Given the description of an element on the screen output the (x, y) to click on. 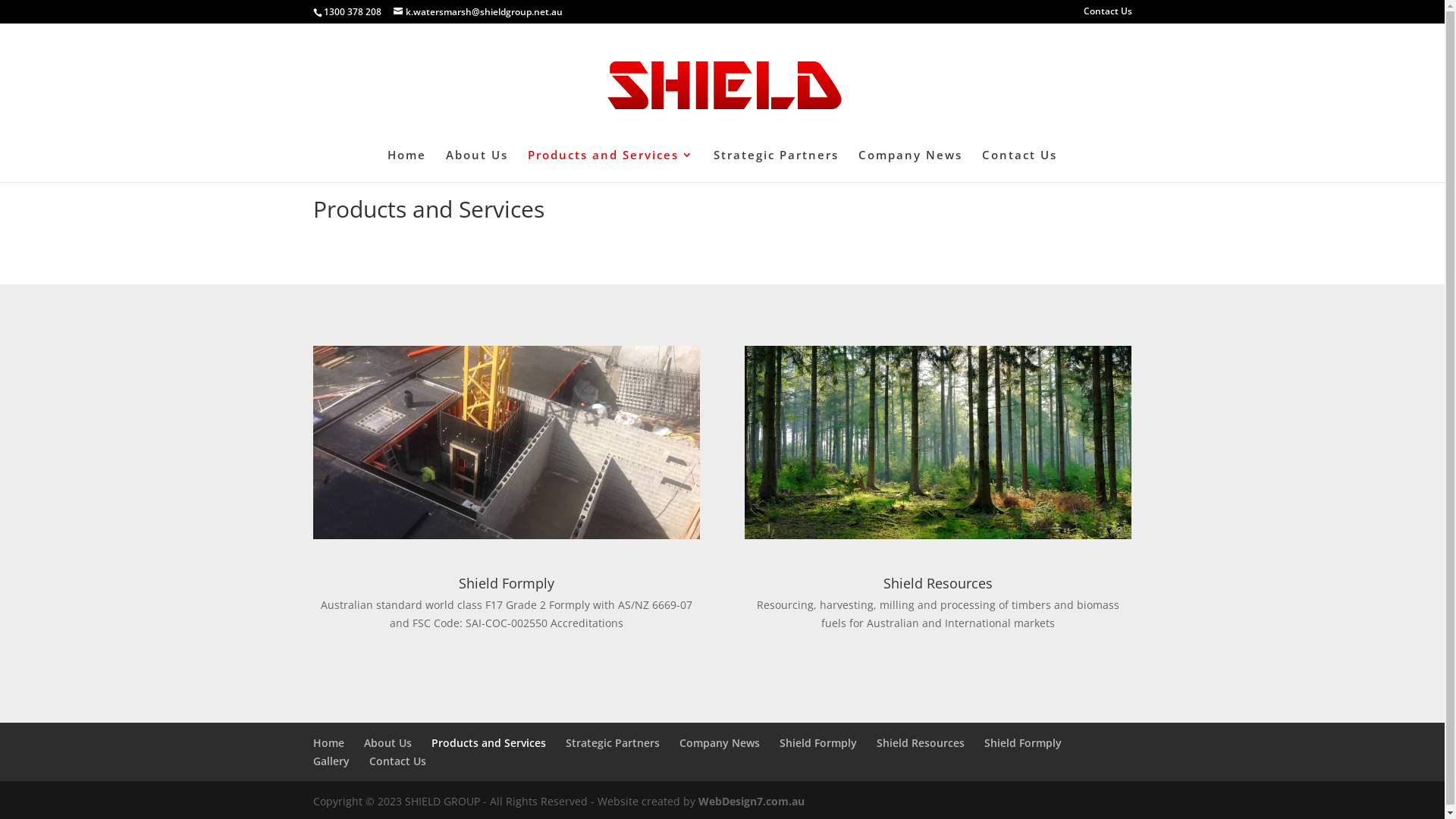
Company News Element type: text (910, 165)
About Us Element type: text (387, 742)
Shield Formply Element type: text (506, 583)
Products and Services Element type: text (487, 742)
WebDesign7.com.au Element type: text (750, 800)
Products and Services Element type: text (610, 165)
Home Element type: text (327, 742)
About Us Element type: text (476, 165)
Strategic Partners Element type: text (775, 165)
Contact Us Element type: text (396, 760)
k.watersmarsh@shieldgroup.net.au Element type: text (476, 11)
Company News Element type: text (719, 742)
Contact Us Element type: text (1019, 165)
Home Element type: text (406, 165)
Shield Resources Element type: text (937, 583)
Contact Us Element type: text (1106, 14)
Shield Formply Element type: text (1022, 742)
Gallery Element type: text (330, 760)
Shield Formply Element type: text (817, 742)
Strategic Partners Element type: text (612, 742)
Shield Resources Element type: text (920, 742)
